Given the description of an element on the screen output the (x, y) to click on. 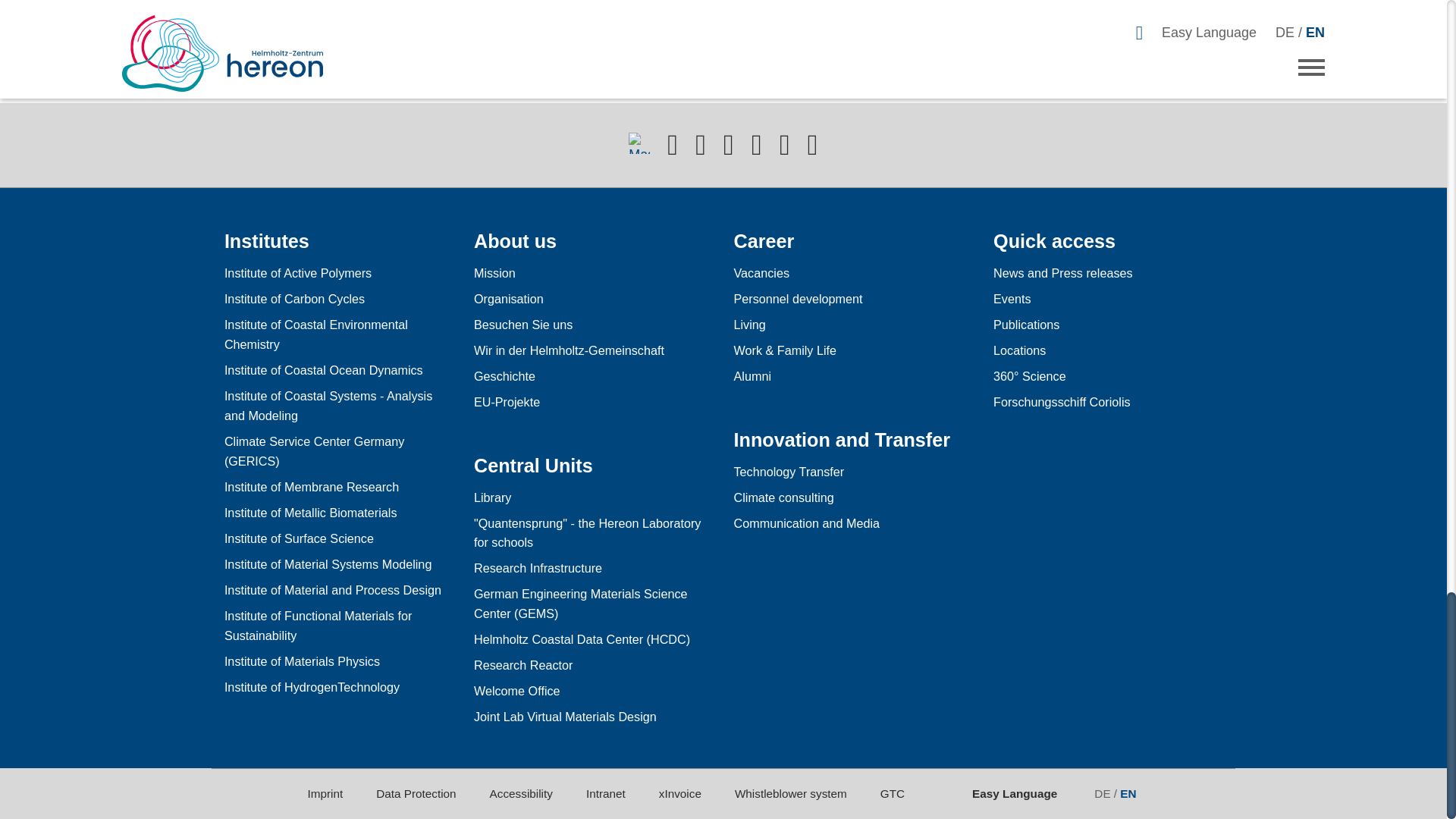
Hereon at Mastodon (638, 142)
Click to change language (1116, 793)
Easy Language (1007, 793)
